Given the description of an element on the screen output the (x, y) to click on. 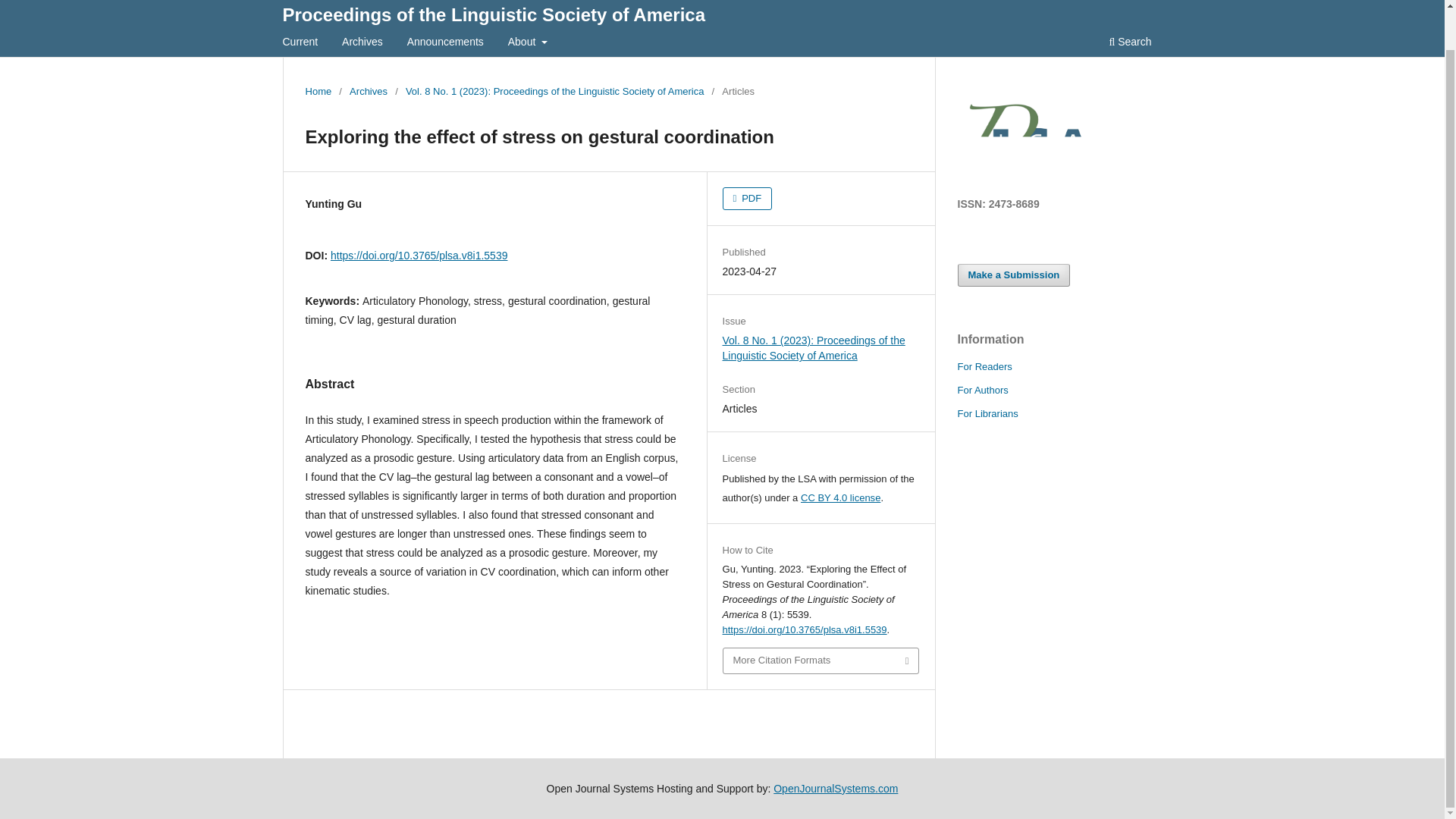
Make a Submission (1013, 274)
Home (317, 91)
PDF (747, 198)
Proceedings of the Linguistic Society of America (493, 16)
Archives (362, 43)
Announcements (445, 43)
CC BY 4.0 license (840, 497)
About (527, 43)
More Citation Formats (820, 660)
Archives (368, 91)
